Given the description of an element on the screen output the (x, y) to click on. 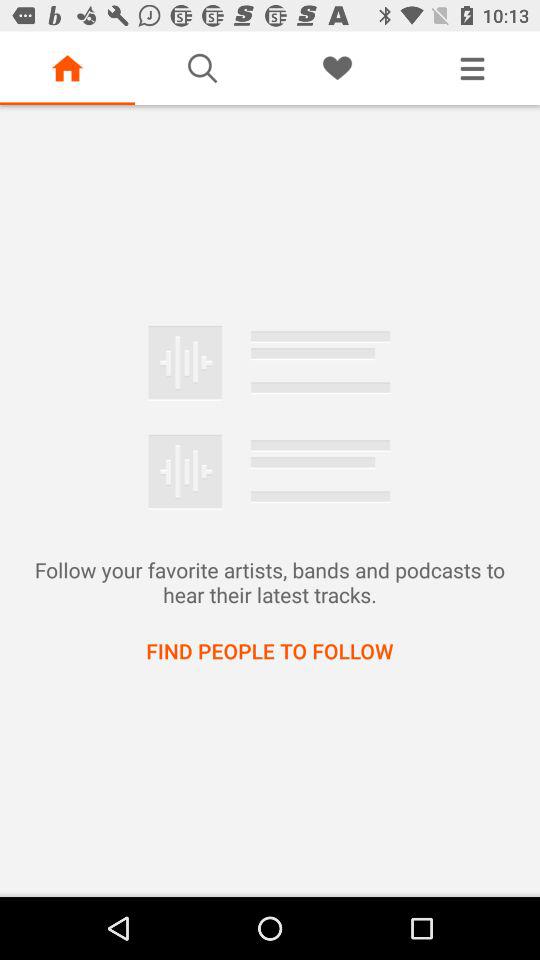
press the find people to icon (269, 650)
